Given the description of an element on the screen output the (x, y) to click on. 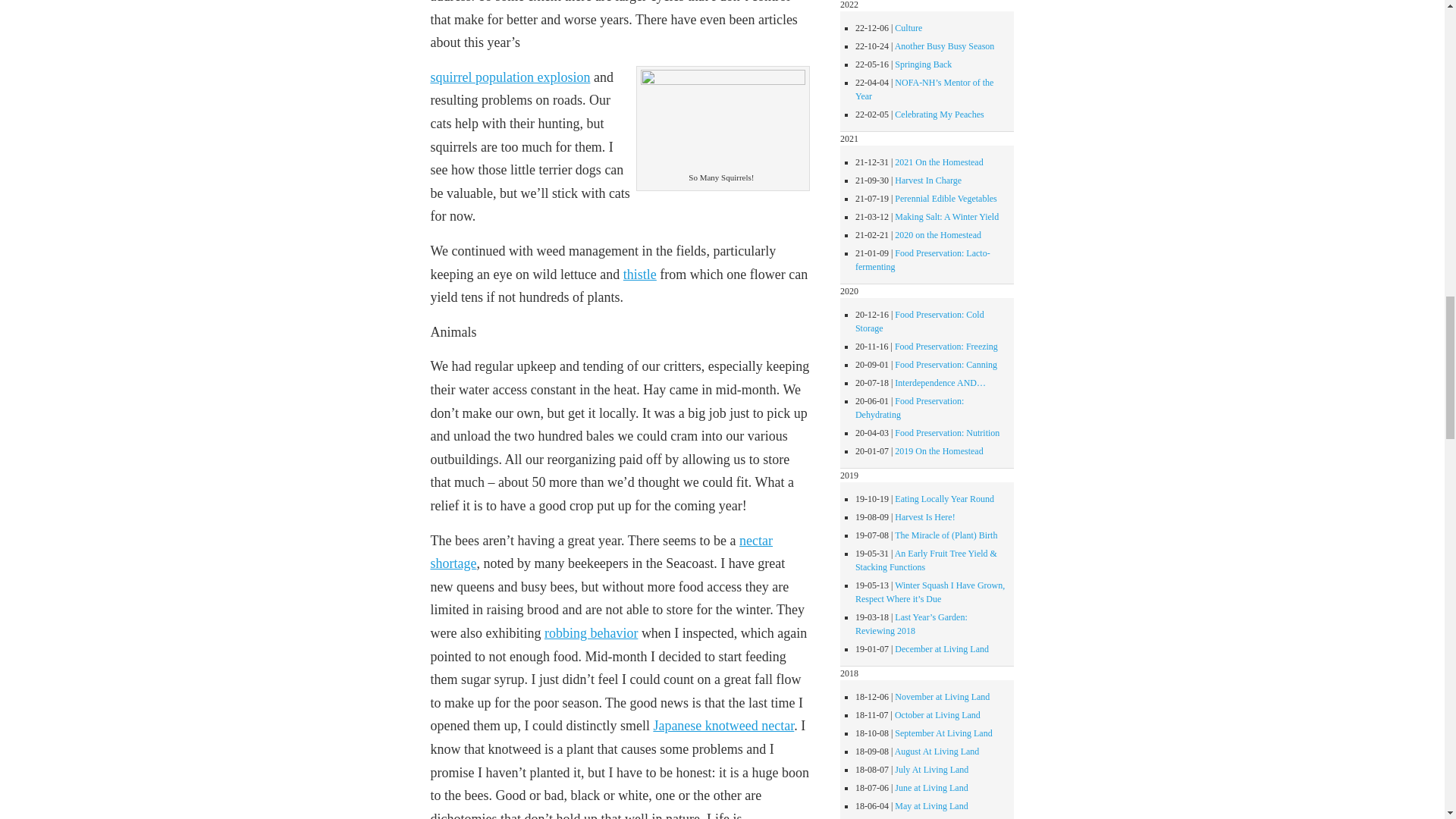
population explosion (533, 77)
thistle (639, 273)
squirrel  (451, 77)
robbing behavior (590, 632)
nectar shortage (601, 552)
Japanese knotweed nectar (722, 725)
